Given the description of an element on the screen output the (x, y) to click on. 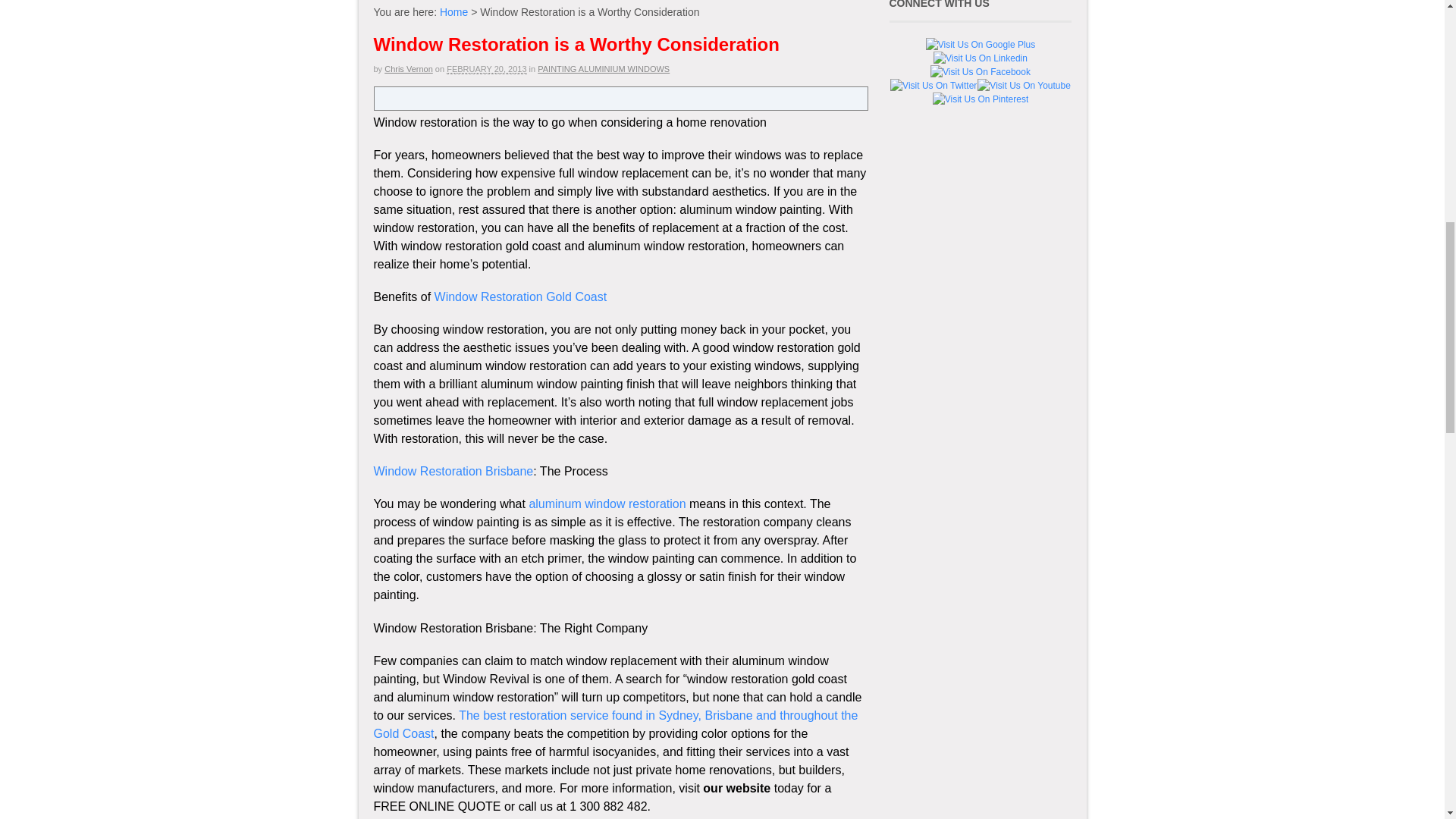
Window Restoration Gold Coast (520, 296)
aluminum window restoration (606, 503)
Chris Vernon (408, 68)
Window Restoration Brisbane (452, 471)
Posts by Chris Vernon (408, 68)
Visit Us On Google Plus (979, 44)
PAINTING ALUMINIUM WINDOWS (603, 68)
Home (453, 11)
